Given the description of an element on the screen output the (x, y) to click on. 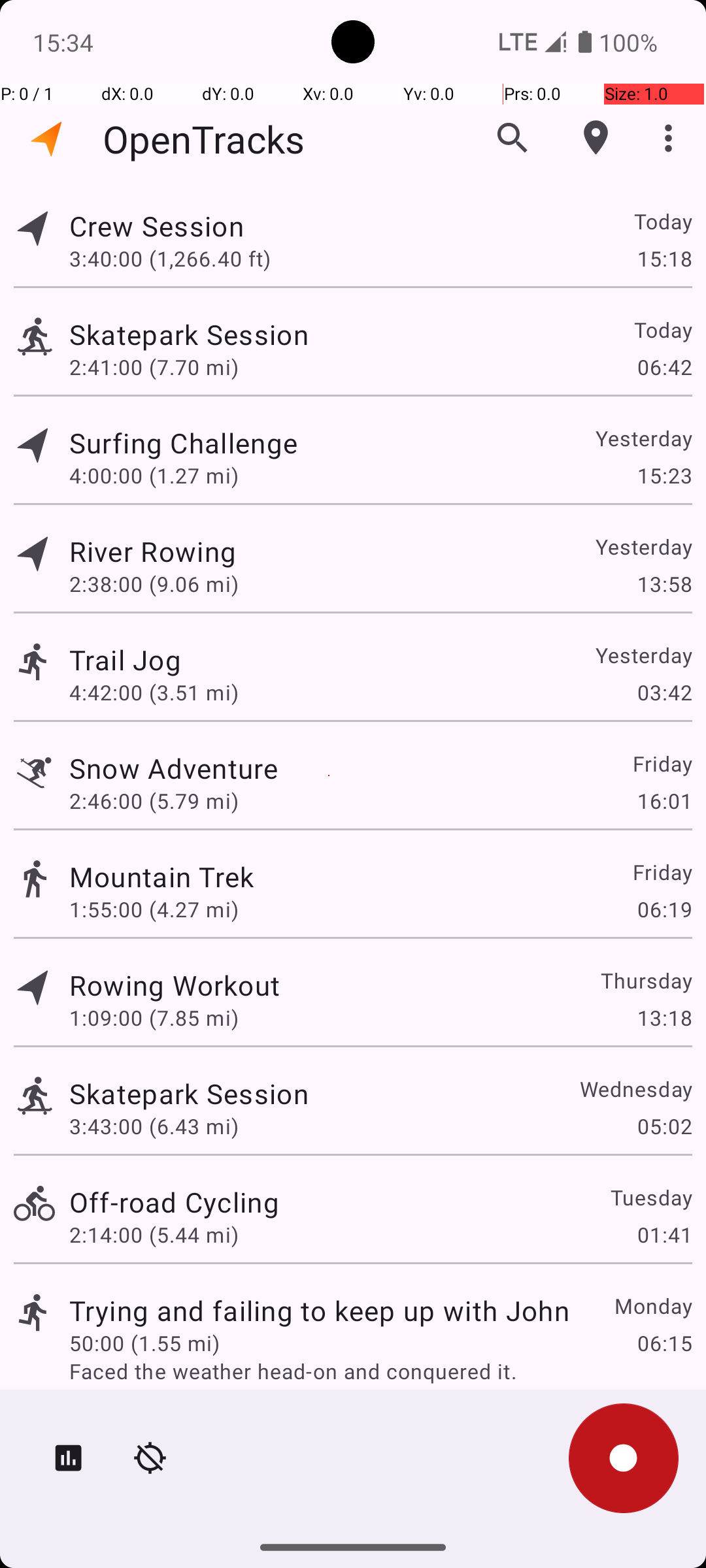
Crew Session Element type: android.widget.TextView (156, 225)
3:40:00 (1,266.40 ft) Element type: android.widget.TextView (169, 258)
15:18 Element type: android.widget.TextView (664, 258)
Skatepark Session Element type: android.widget.TextView (188, 333)
2:41:00 (7.70 mi) Element type: android.widget.TextView (153, 366)
06:42 Element type: android.widget.TextView (664, 366)
Surfing Challenge Element type: android.widget.TextView (183, 442)
4:00:00 (1.27 mi) Element type: android.widget.TextView (153, 475)
15:23 Element type: android.widget.TextView (664, 475)
River Rowing Element type: android.widget.TextView (152, 550)
2:38:00 (9.06 mi) Element type: android.widget.TextView (153, 583)
13:58 Element type: android.widget.TextView (664, 583)
Trail Jog Element type: android.widget.TextView (124, 659)
4:42:00 (3.51 mi) Element type: android.widget.TextView (153, 692)
03:42 Element type: android.widget.TextView (664, 692)
Snow Adventure Element type: android.widget.TextView (173, 767)
2:46:00 (5.79 mi) Element type: android.widget.TextView (153, 800)
16:01 Element type: android.widget.TextView (664, 800)
Mountain Trek Element type: android.widget.TextView (161, 876)
1:55:00 (4.27 mi) Element type: android.widget.TextView (153, 909)
06:19 Element type: android.widget.TextView (664, 909)
Rowing Workout Element type: android.widget.TextView (174, 984)
1:09:00 (7.85 mi) Element type: android.widget.TextView (153, 1017)
13:18 Element type: android.widget.TextView (664, 1017)
3:43:00 (6.43 mi) Element type: android.widget.TextView (153, 1125)
05:02 Element type: android.widget.TextView (664, 1125)
Off-road Cycling Element type: android.widget.TextView (173, 1201)
2:14:00 (5.44 mi) Element type: android.widget.TextView (153, 1234)
01:41 Element type: android.widget.TextView (664, 1234)
Trying and failing to keep up with John Element type: android.widget.TextView (319, 1309)
50:00 (1.55 mi) Element type: android.widget.TextView (144, 1342)
06:15 Element type: android.widget.TextView (664, 1342)
Faced the weather head-on and conquered it. Element type: android.widget.TextView (380, 1370)
